Given the description of an element on the screen output the (x, y) to click on. 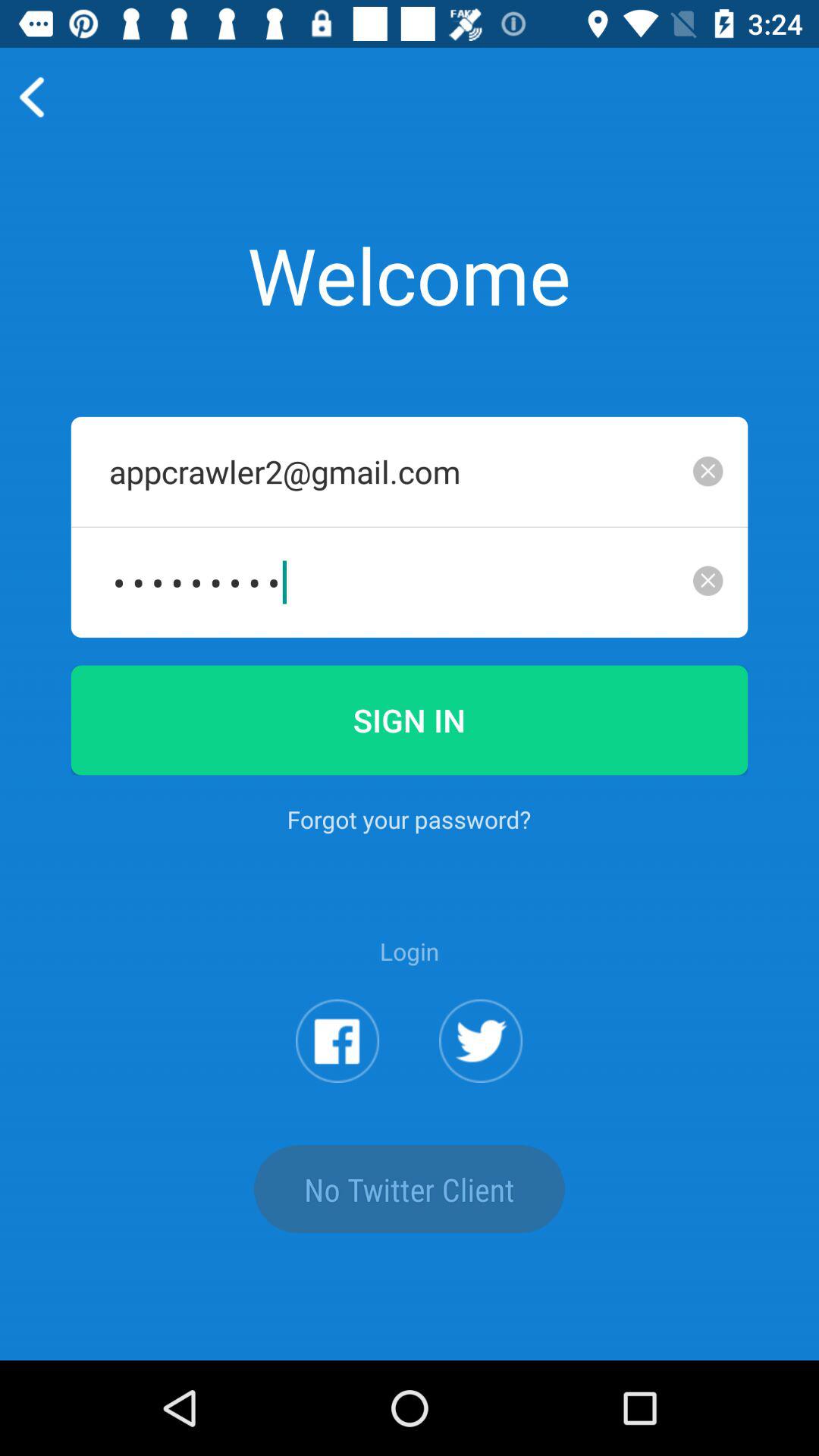
click the close button to remove the password (708, 580)
